Given the description of an element on the screen output the (x, y) to click on. 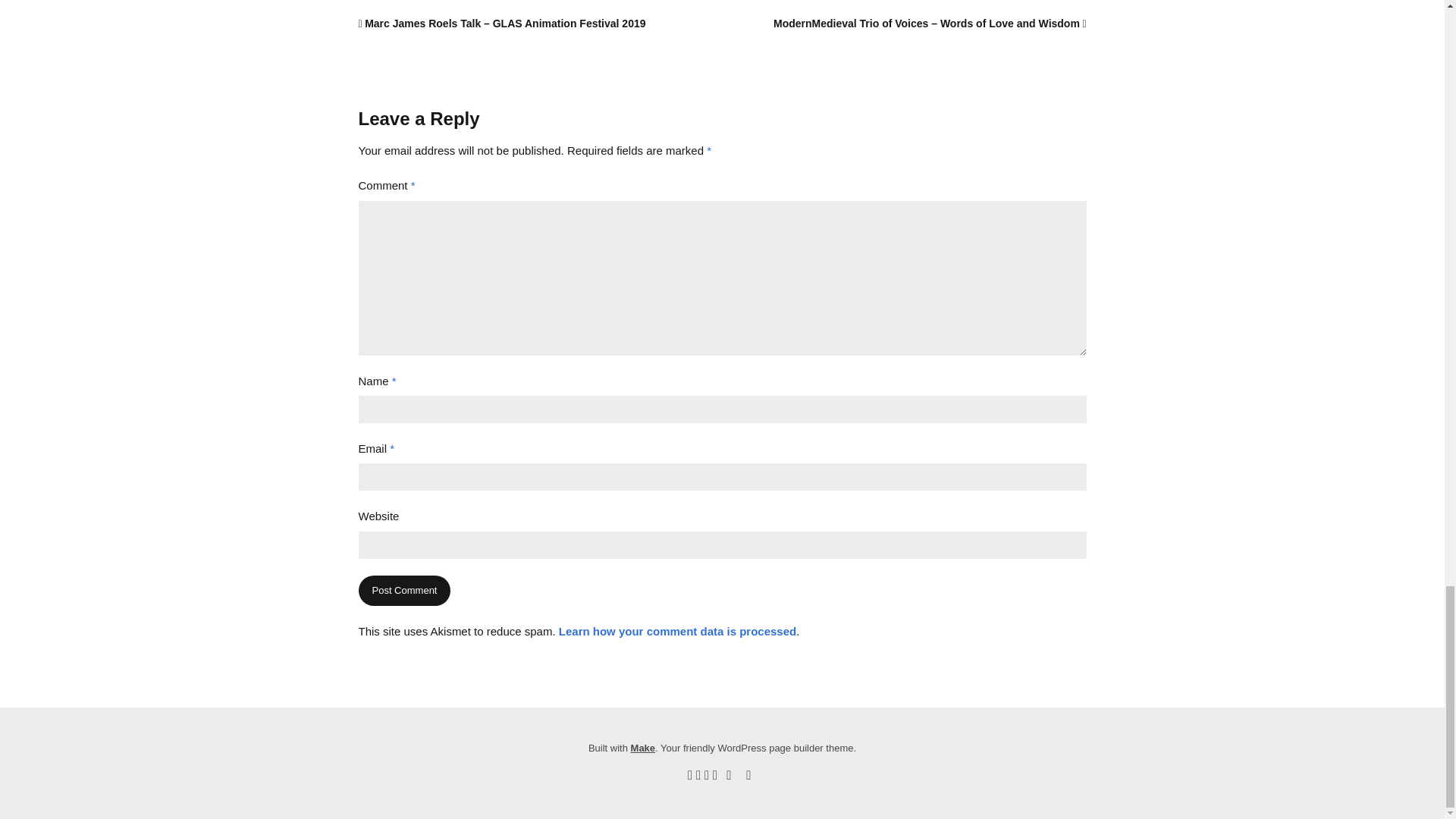
Post Comment (403, 590)
